Given the description of an element on the screen output the (x, y) to click on. 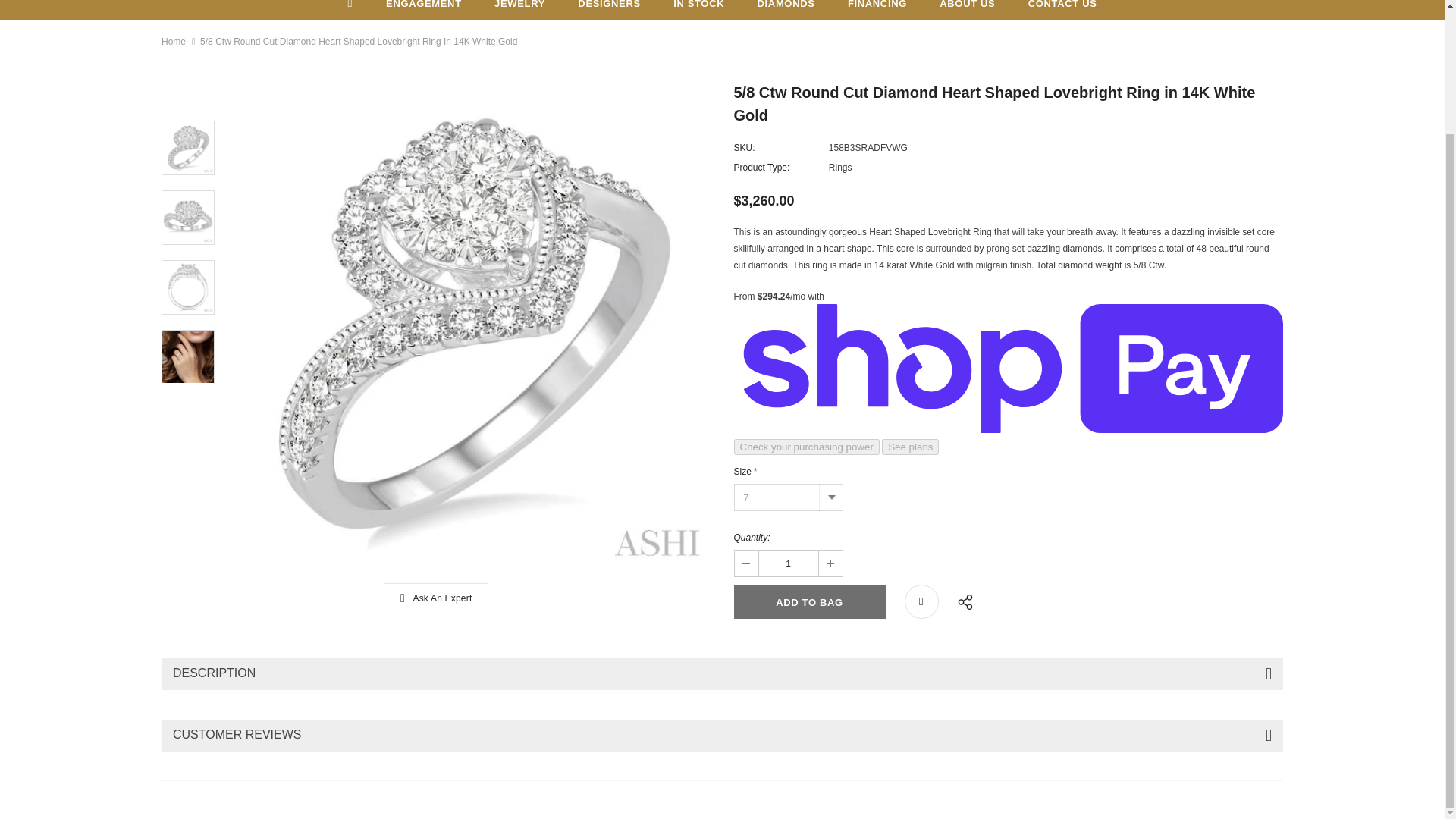
1 (787, 563)
Add to Bag (809, 601)
